Given the description of an element on the screen output the (x, y) to click on. 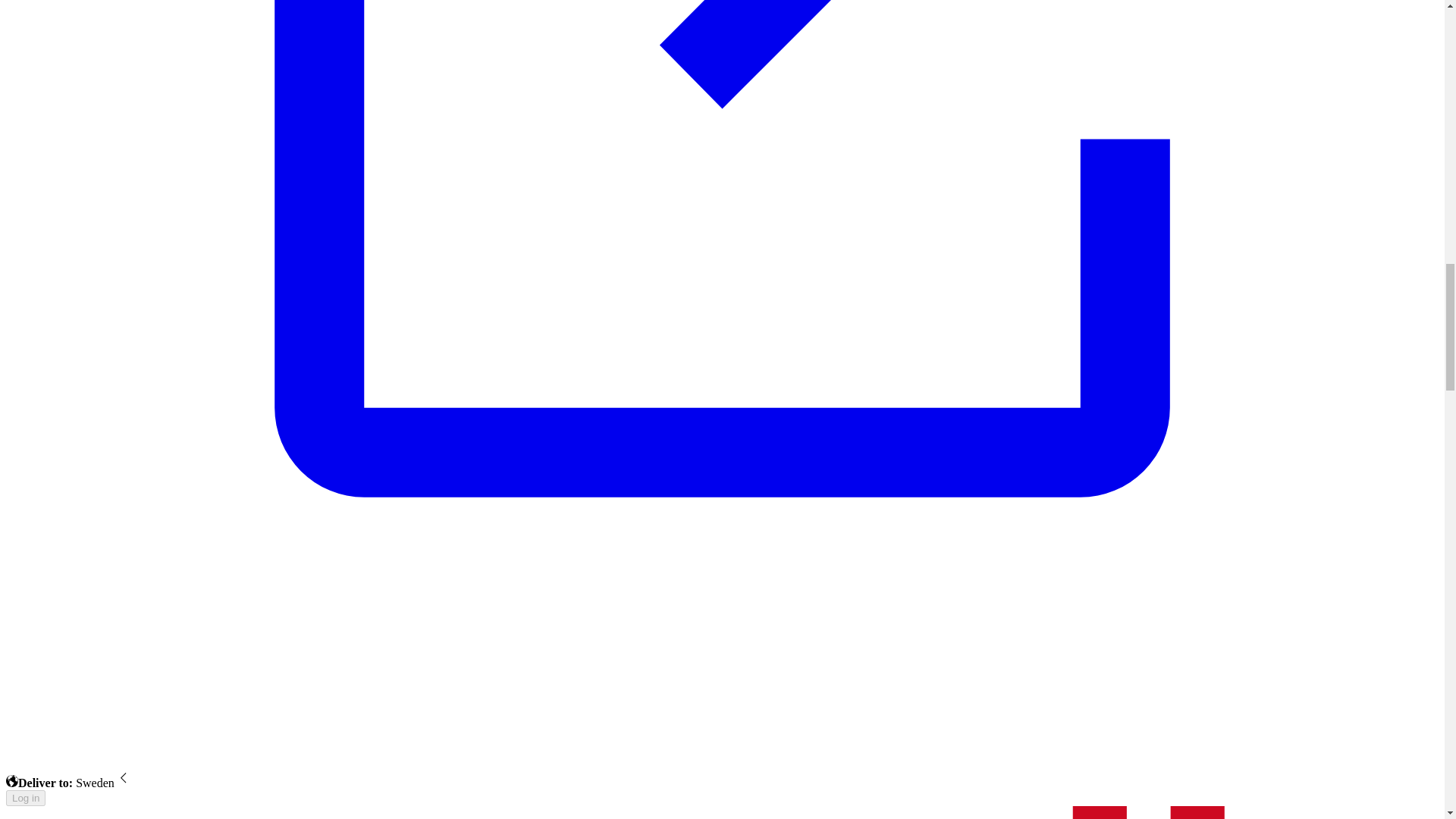
Log in (25, 797)
